Given the description of an element on the screen output the (x, y) to click on. 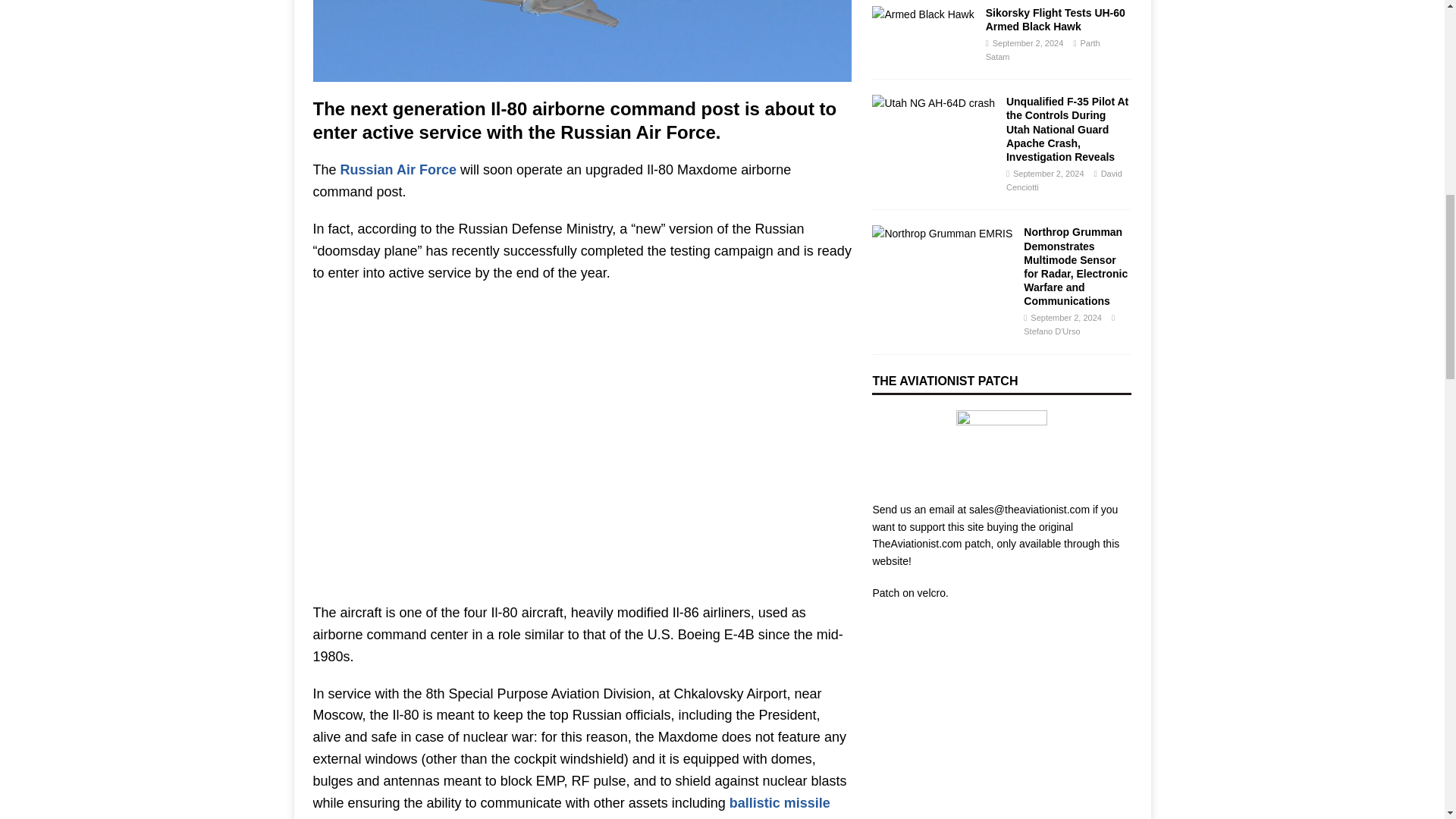
Sikorsky Flight Tests UH-60 Armed Black Hawk (923, 13)
Russian Air Force (398, 169)
ballistic missile submarines (571, 807)
